Given the description of an element on the screen output the (x, y) to click on. 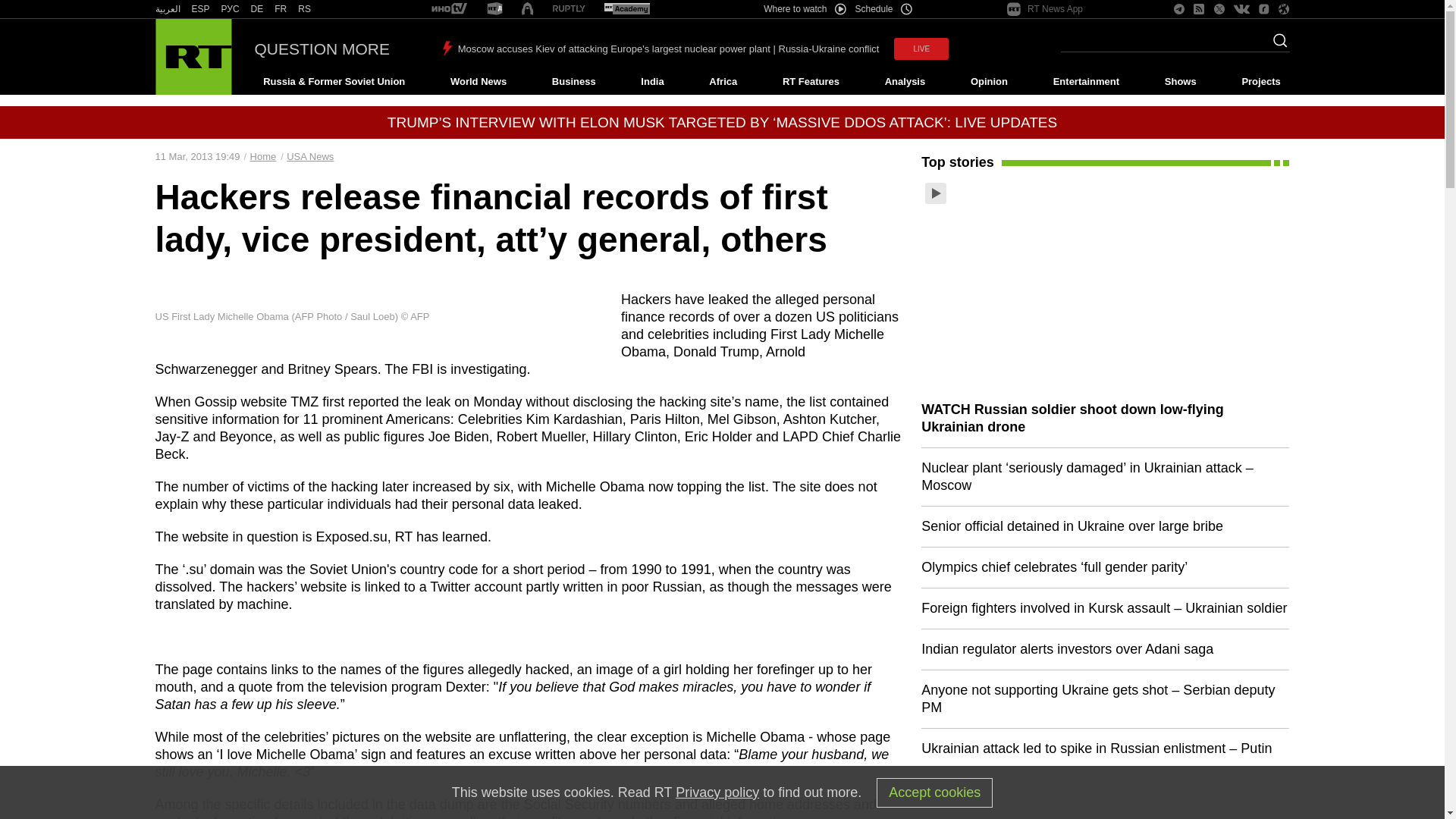
RT  (166, 9)
Search (1276, 44)
RT  (199, 9)
ESP (199, 9)
RT  (494, 9)
Projects (1261, 81)
Africa (722, 81)
RT  (280, 9)
RT  (569, 8)
Analysis (905, 81)
